Given the description of an element on the screen output the (x, y) to click on. 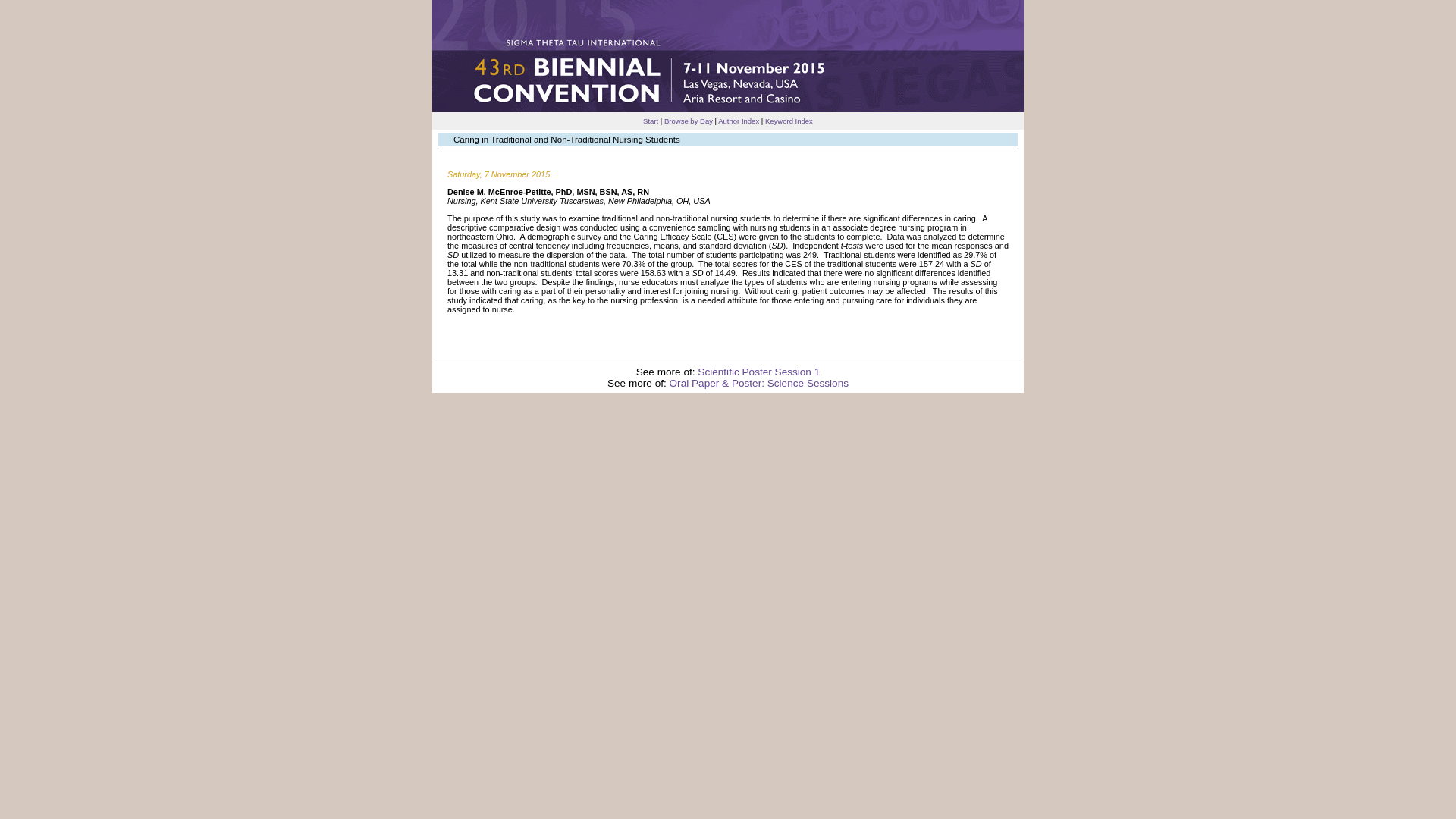
Keyword Index (788, 121)
Author Index (737, 121)
Browse by Day (688, 121)
Scientific Poster Session 1 (758, 371)
Start (650, 121)
